Given the description of an element on the screen output the (x, y) to click on. 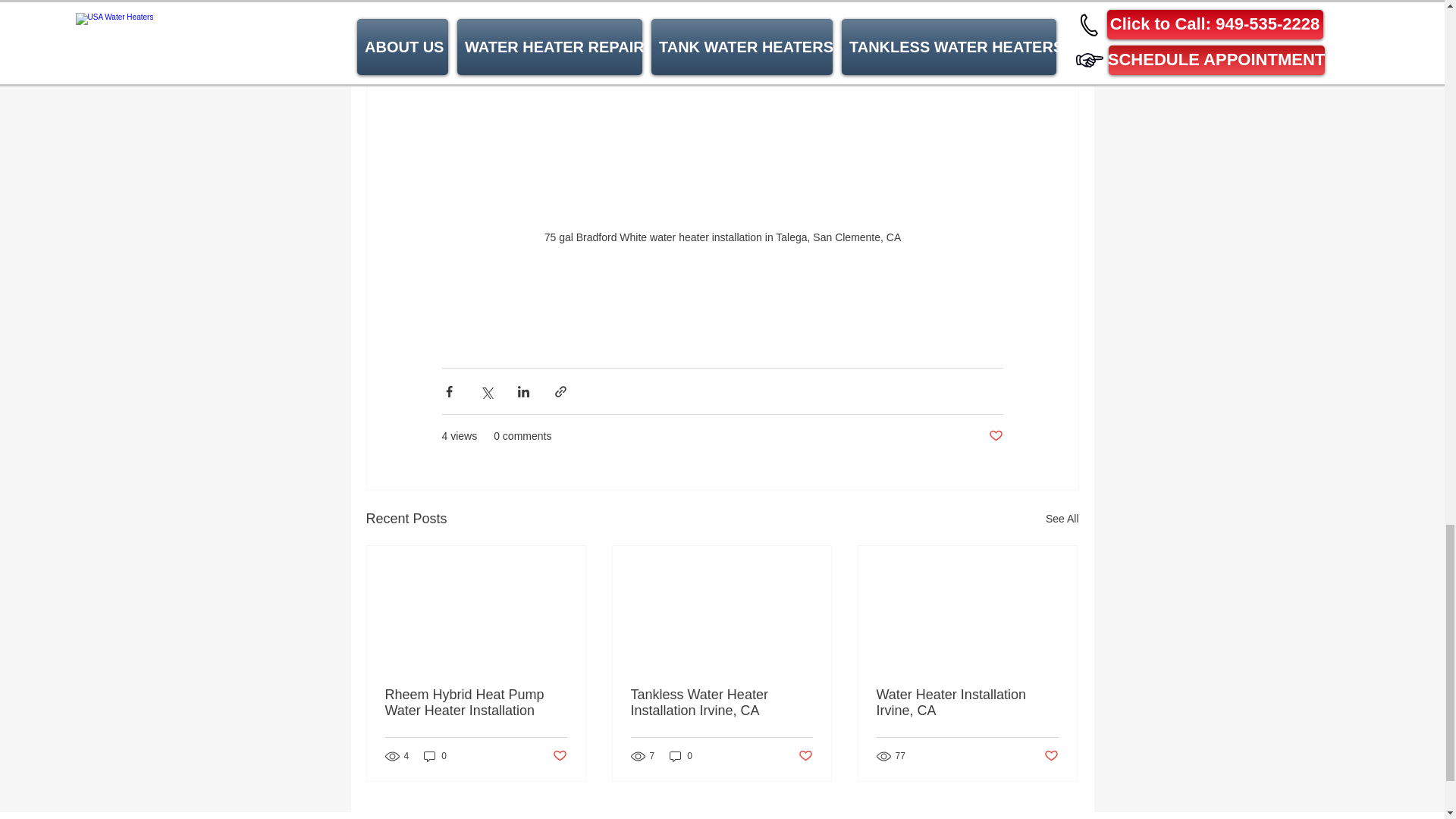
Post not marked as liked (1050, 756)
Post not marked as liked (995, 436)
Post not marked as liked (804, 756)
Water Heater Installation Irvine, CA (967, 703)
0 (681, 756)
See All (1061, 518)
Post not marked as liked (558, 756)
Rheem Hybrid Heat Pump Water Heater Installation (476, 703)
Tankless Water Heater Installation Irvine, CA (721, 703)
0 (435, 756)
